Given the description of an element on the screen output the (x, y) to click on. 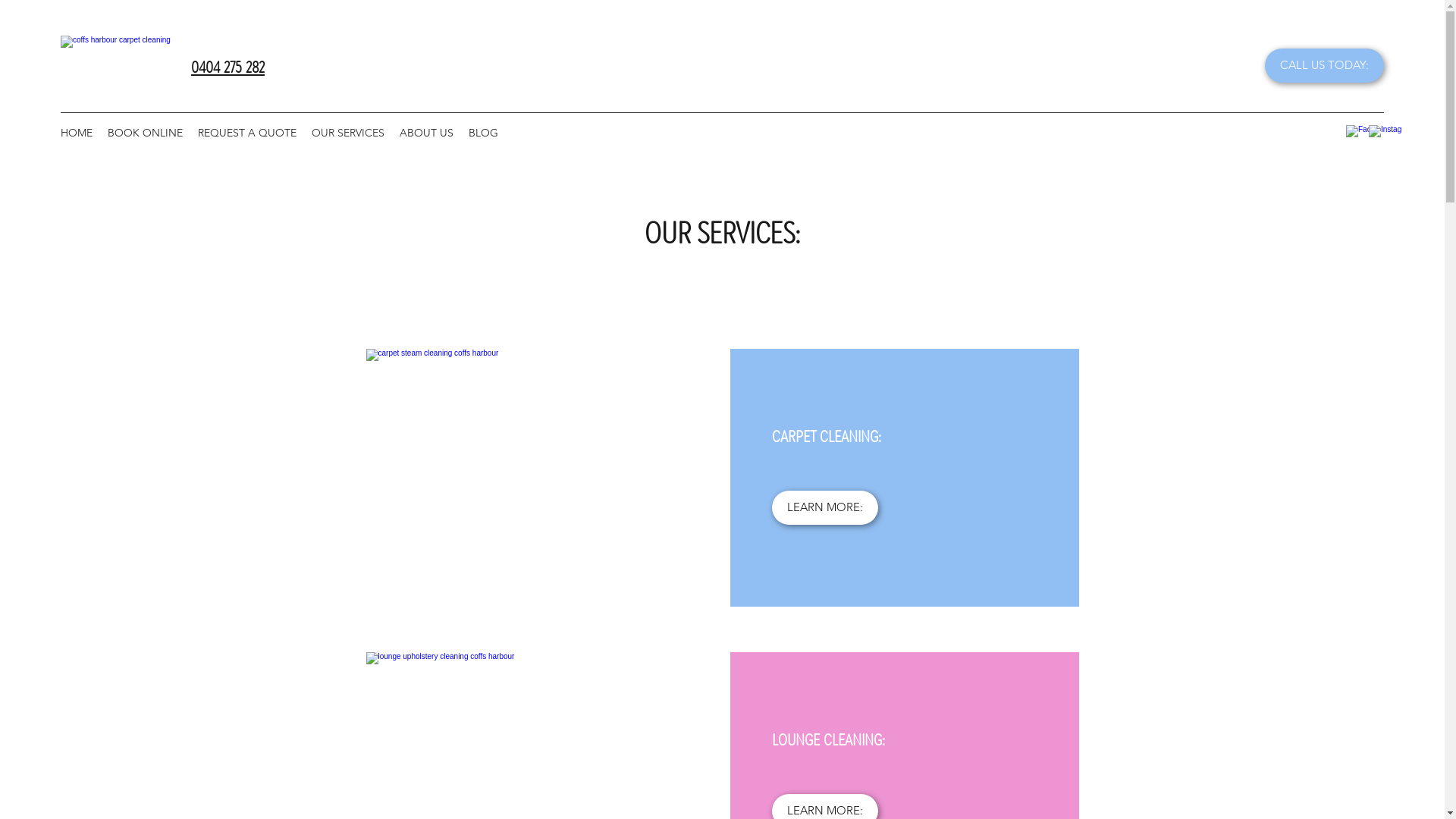
0404 275 282 Element type: text (227, 66)
LEARN MORE: Element type: text (824, 507)
HOME Element type: text (76, 132)
BOOK ONLINE Element type: text (145, 132)
ABOUT US Element type: text (426, 132)
BLOG Element type: text (483, 132)
REQUEST A QUOTE Element type: text (247, 132)
CALL US TODAY: Element type: text (1323, 65)
OUR SERVICES Element type: text (348, 132)
